Given the description of an element on the screen output the (x, y) to click on. 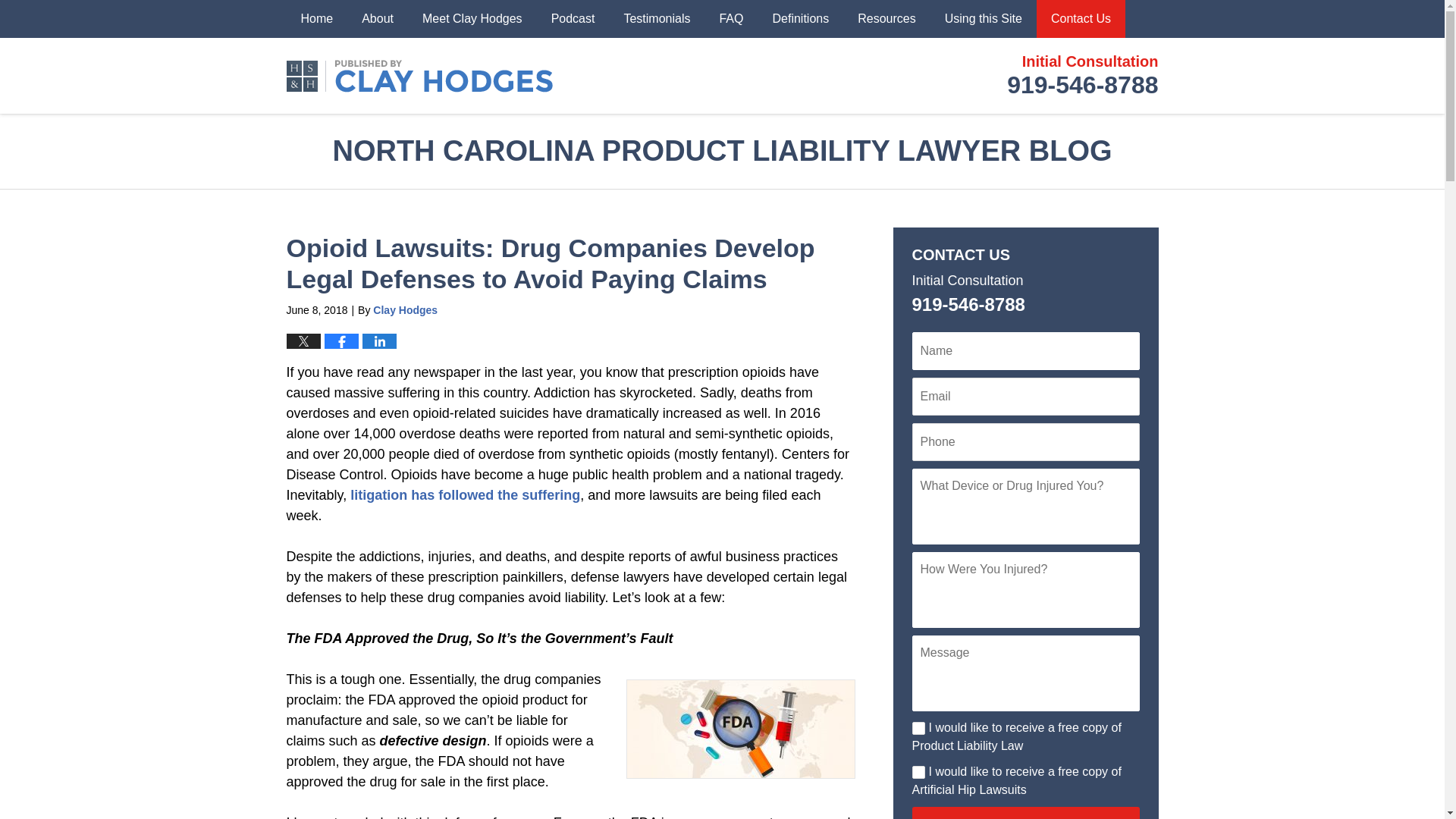
Contact Us (1080, 18)
Meet Clay Hodges (472, 18)
Resources (886, 18)
About (377, 18)
Clay Hodges (405, 309)
Testimonials (656, 18)
Definitions (800, 18)
litigation has followed the suffering (1082, 75)
FAQ (464, 494)
Podcast (730, 18)
I would like to receive a free copy of Product Liability Law (573, 18)
North Carolina Product Liability Lawyer Blog (917, 727)
Home (419, 74)
